Given the description of an element on the screen output the (x, y) to click on. 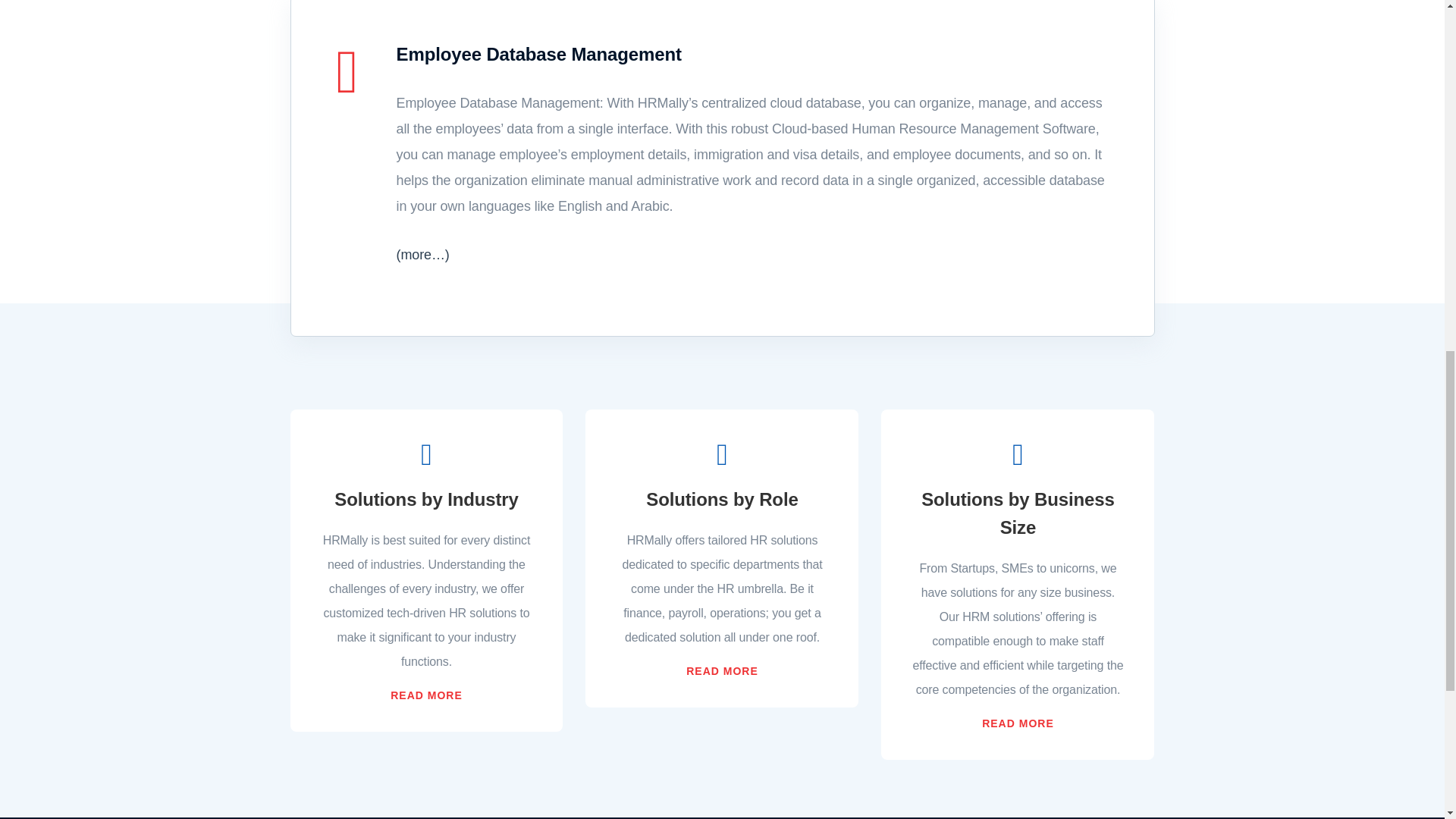
READ MORE (1017, 723)
READ MORE (721, 670)
READ MORE (426, 694)
